Given the description of an element on the screen output the (x, y) to click on. 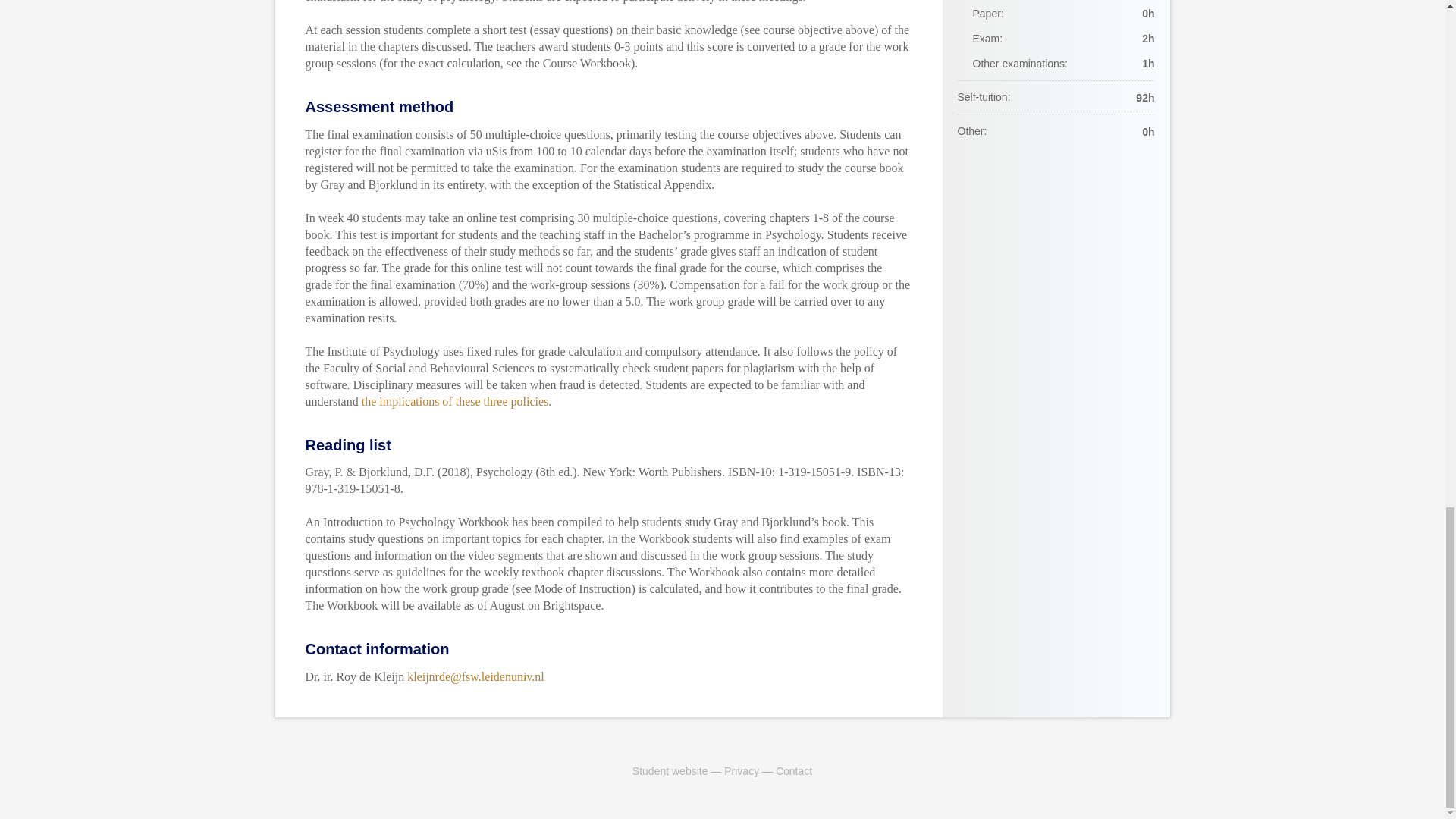
the implications of these three policies (454, 400)
Privacy (740, 770)
Contact (794, 770)
Student website (669, 770)
